Given the description of an element on the screen output the (x, y) to click on. 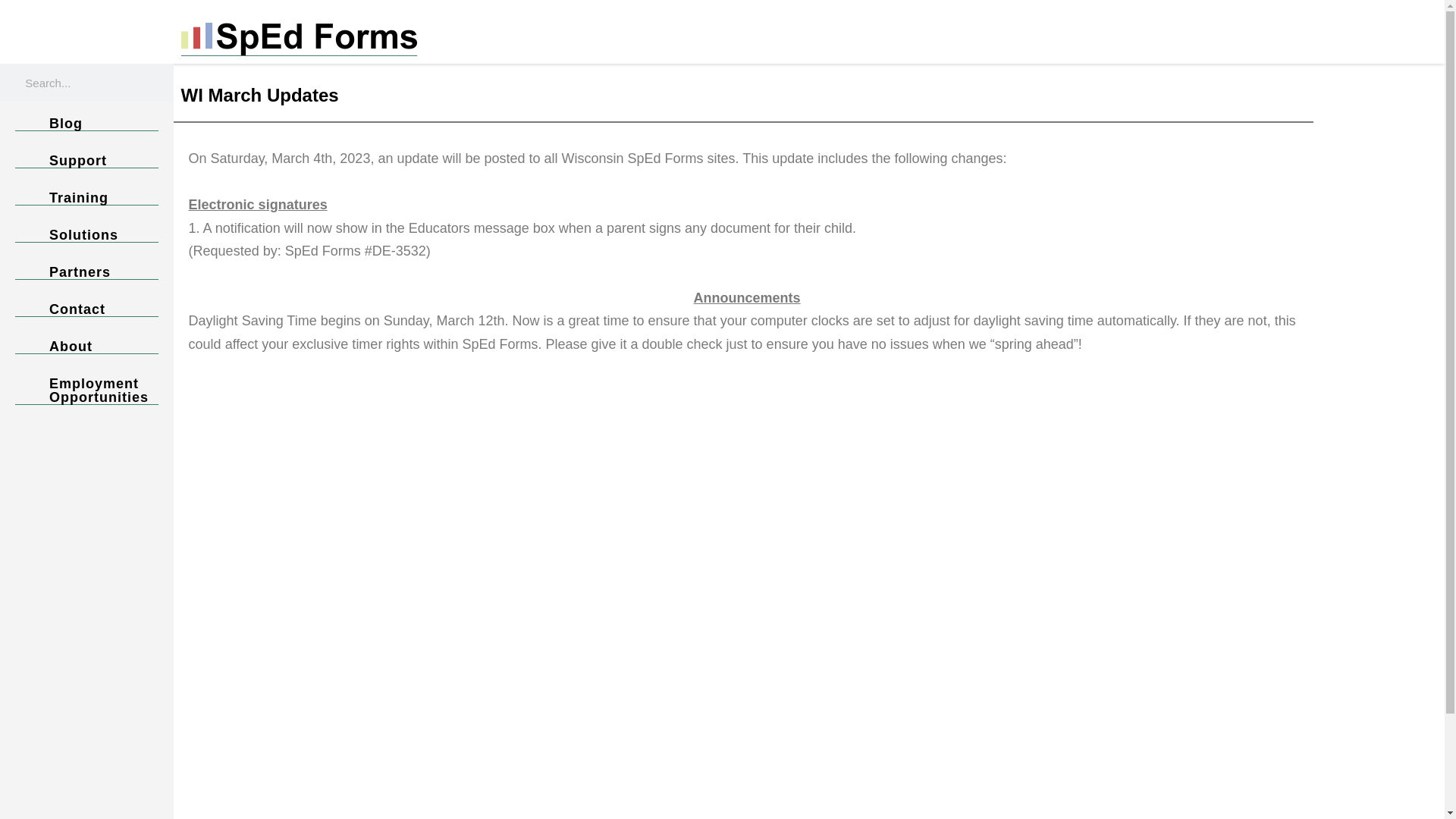
Contact (86, 309)
Support (86, 160)
Solutions (86, 235)
Training (86, 197)
Blog (86, 124)
About (86, 346)
Employment Opportunities (86, 390)
Partners (86, 272)
